Given the description of an element on the screen output the (x, y) to click on. 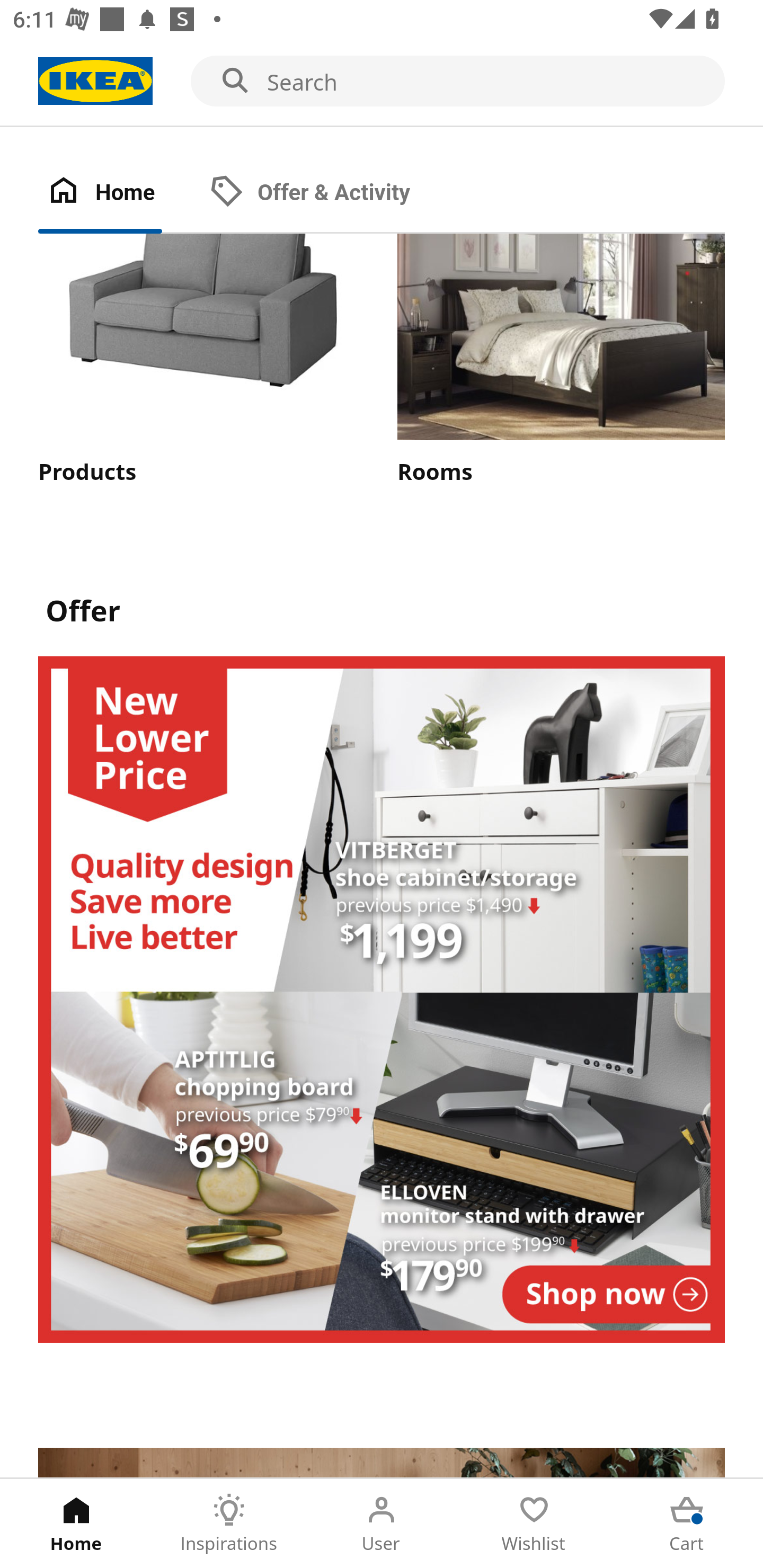
Search (381, 81)
Home
Tab 1 of 2 (118, 192)
Offer & Activity
Tab 2 of 2 (327, 192)
Products (201, 360)
Rooms (560, 360)
Home
Tab 1 of 5 (76, 1522)
Inspirations
Tab 2 of 5 (228, 1522)
User
Tab 3 of 5 (381, 1522)
Wishlist
Tab 4 of 5 (533, 1522)
Cart
Tab 5 of 5 (686, 1522)
